Given the description of an element on the screen output the (x, y) to click on. 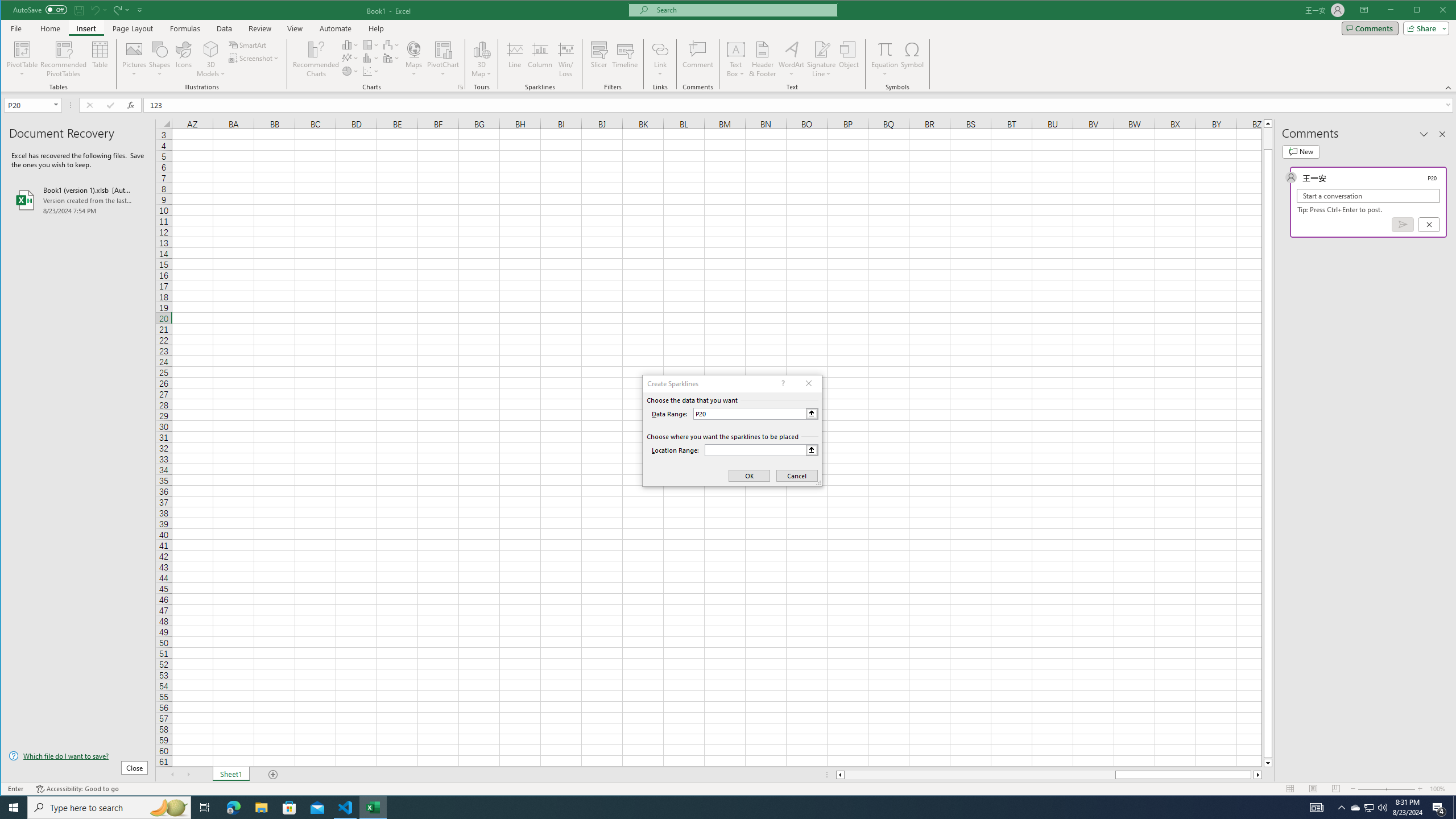
Column (540, 59)
Link (659, 59)
Signature Line (821, 59)
Header & Footer... (762, 59)
Win/Loss (565, 59)
Pictures (134, 59)
PivotTable (22, 48)
